Given the description of an element on the screen output the (x, y) to click on. 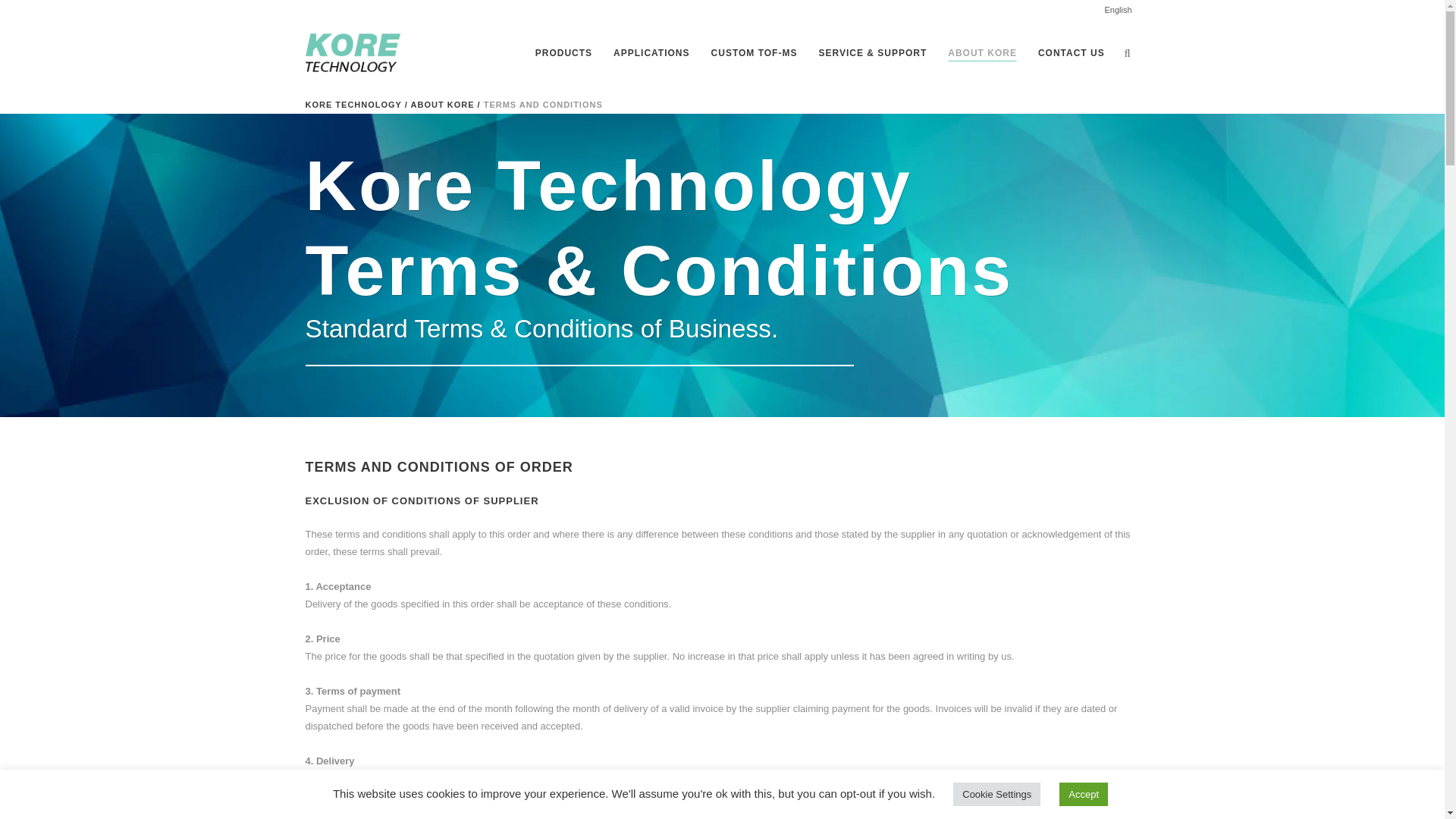
PRODUCTS (563, 52)
APPLICATIONS (651, 52)
CUSTOM TOF-MS (754, 52)
English (1117, 9)
